Given the description of an element on the screen output the (x, y) to click on. 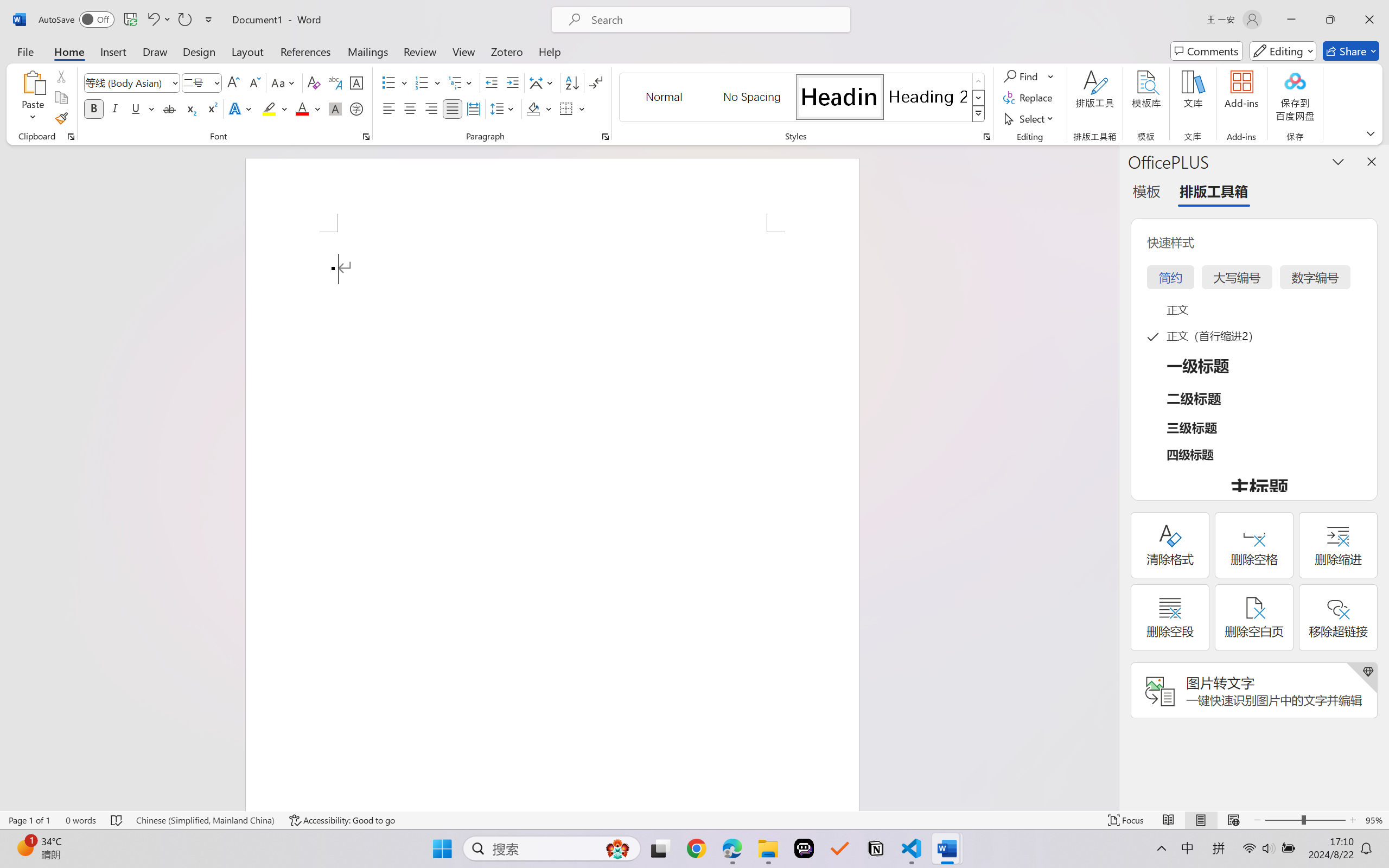
Language Chinese (Simplified, Mainland China) (205, 819)
AutomationID: QuickStylesGallery (802, 97)
